Given the description of an element on the screen output the (x, y) to click on. 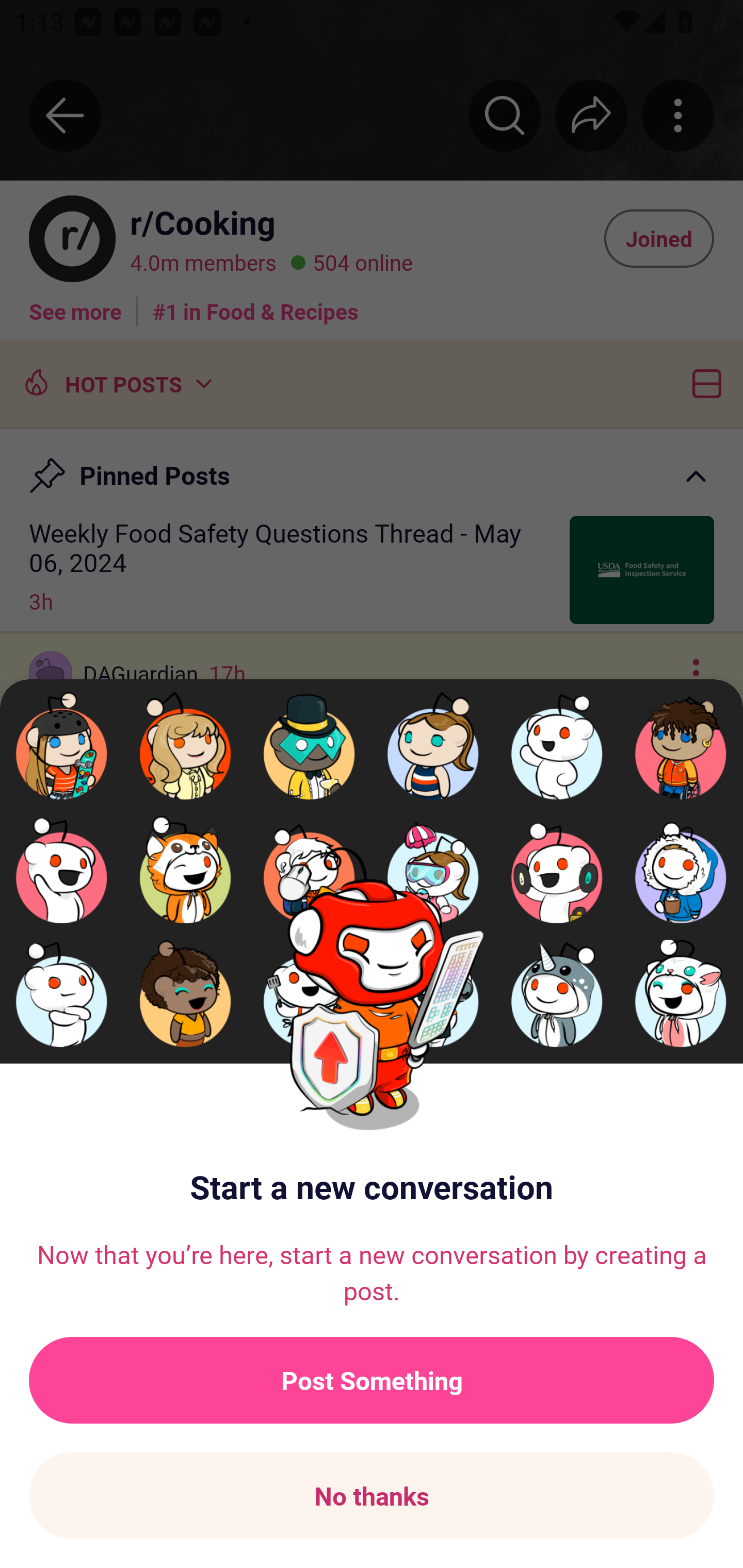
Post Something (371, 1380)
No thanks (371, 1495)
